Given the description of an element on the screen output the (x, y) to click on. 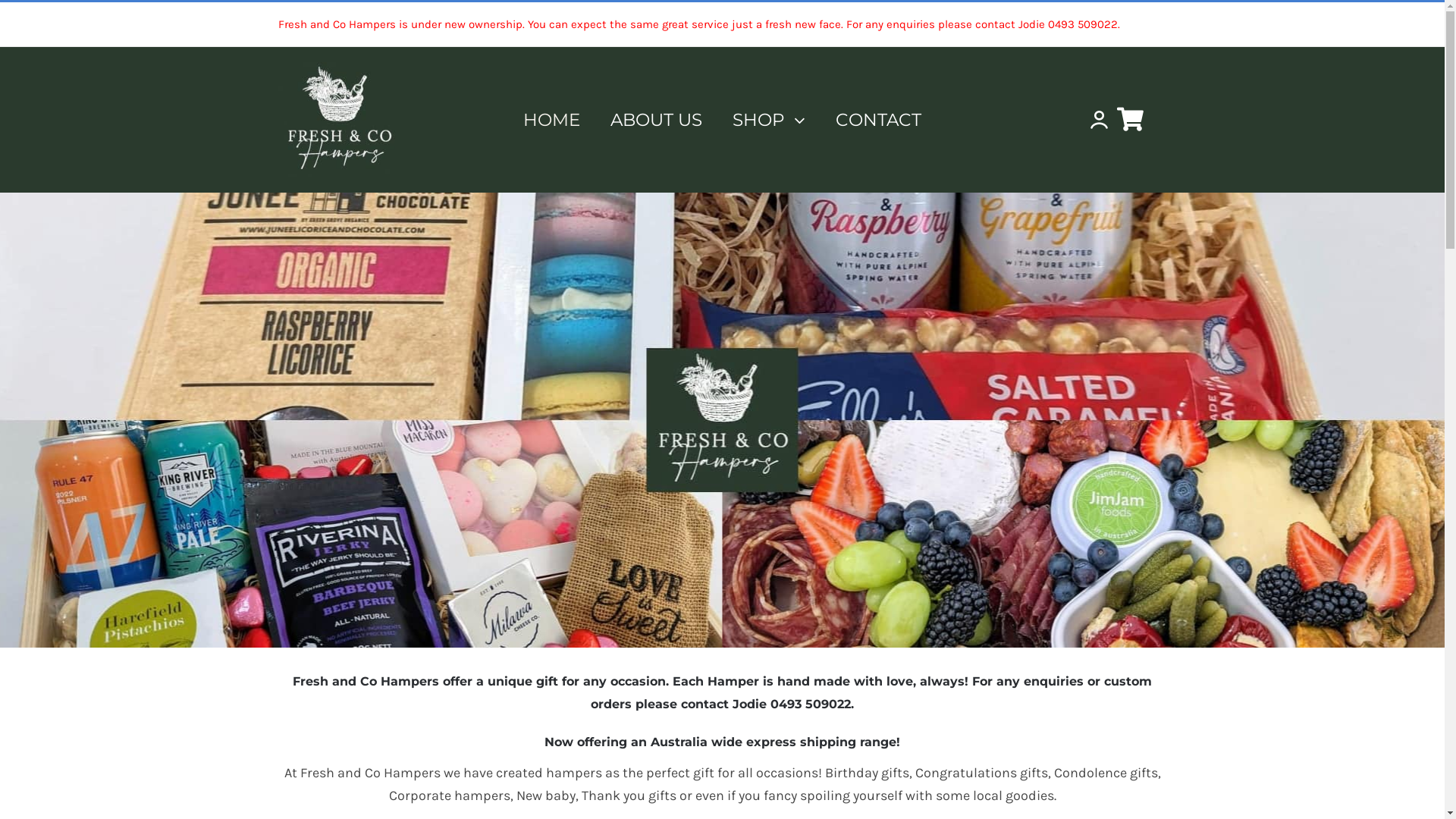
Log In Element type: text (1063, 275)
ABOUT US Element type: text (656, 119)
CONTACT Element type: text (878, 119)
SHOP Element type: text (768, 119)
HOME Element type: text (551, 119)
